Given the description of an element on the screen output the (x, y) to click on. 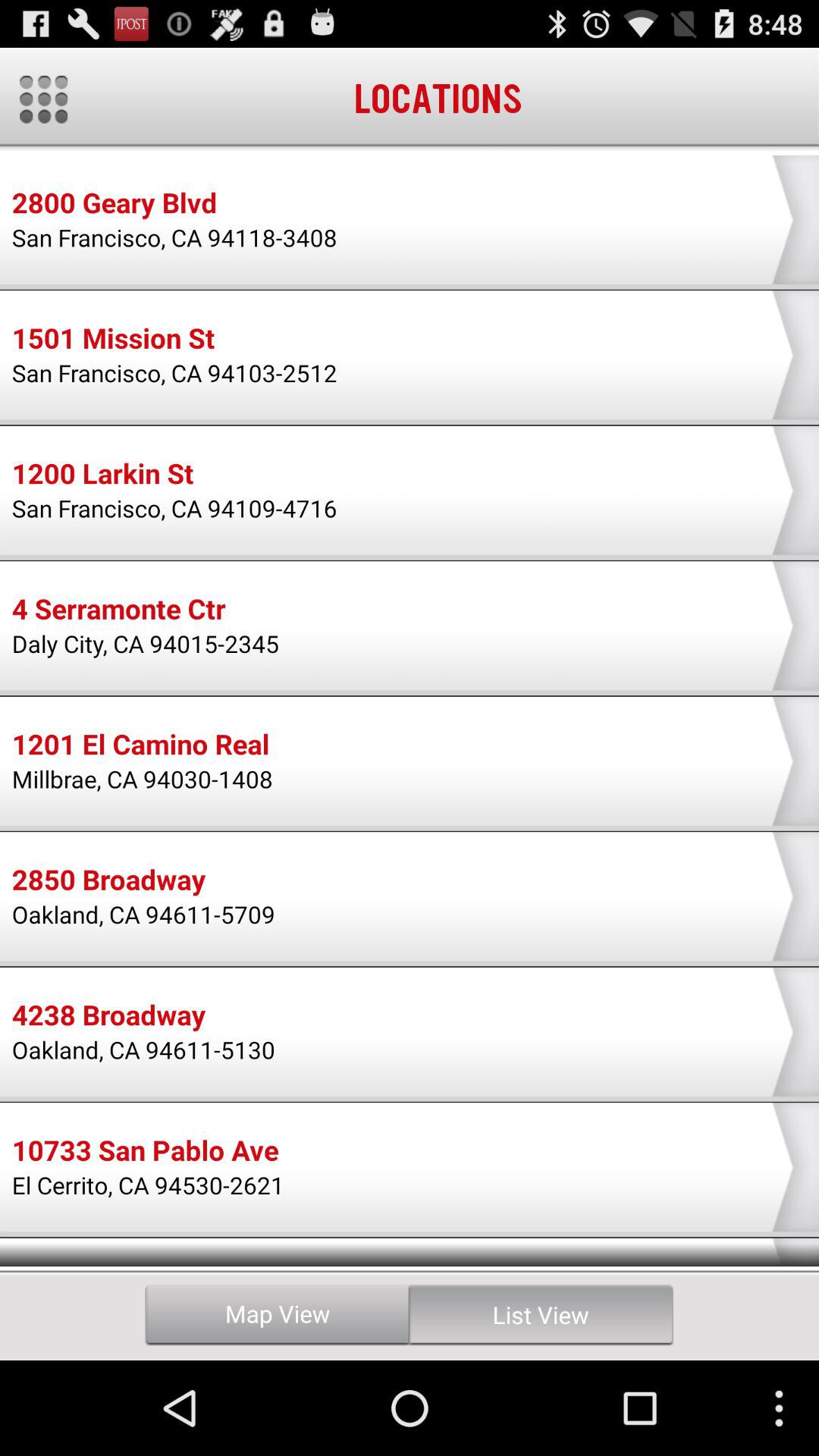
scroll until map view (277, 1314)
